Given the description of an element on the screen output the (x, y) to click on. 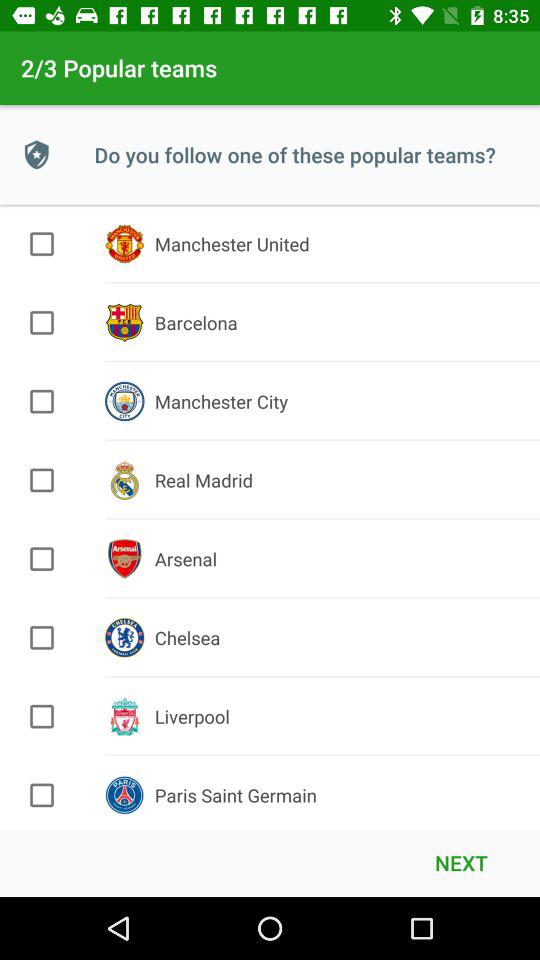
select this item (42, 480)
